Given the description of an element on the screen output the (x, y) to click on. 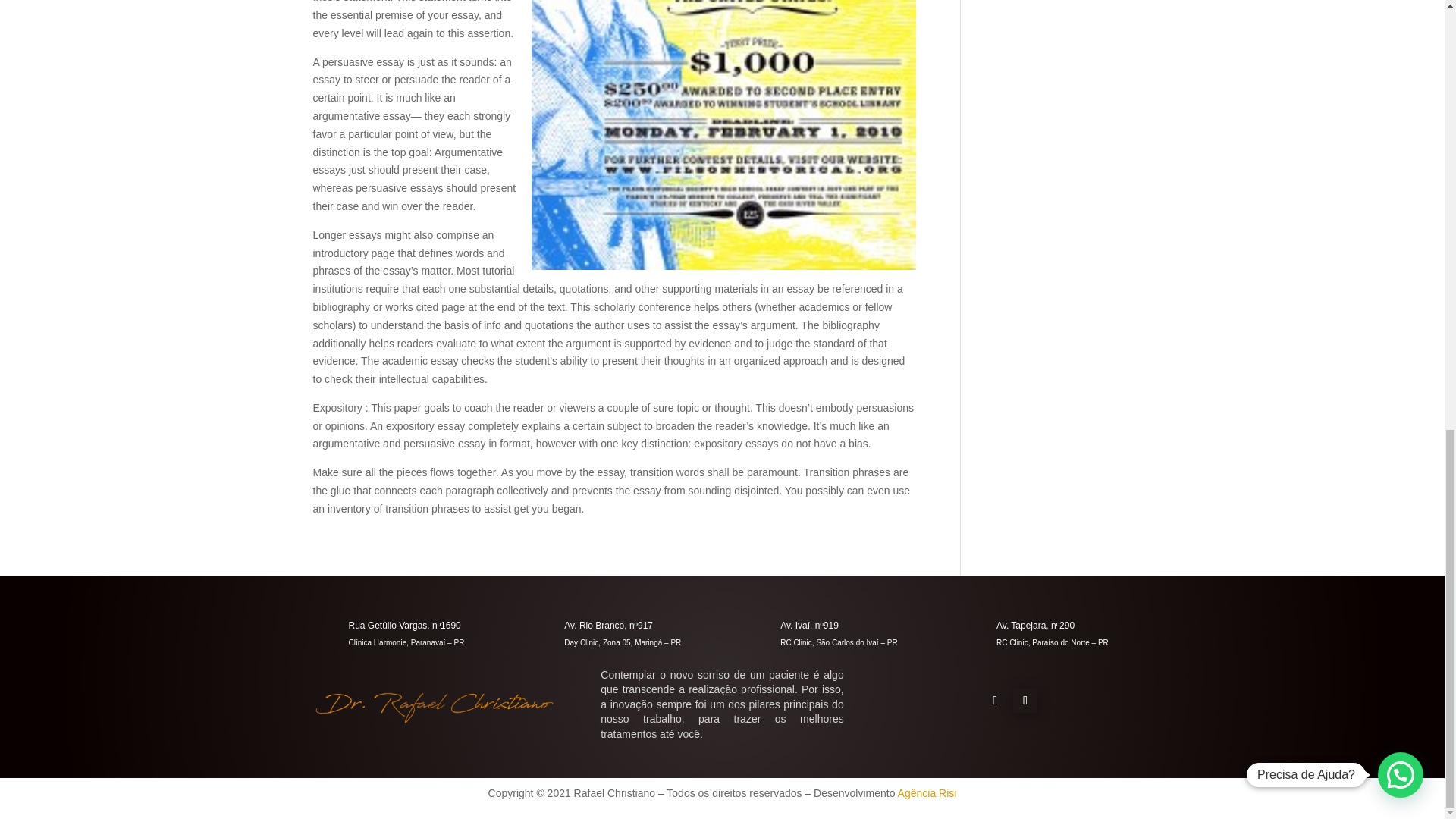
logo (433, 706)
Siga em Instagram (1024, 700)
Siga em Facebook (994, 700)
